Given the description of an element on the screen output the (x, y) to click on. 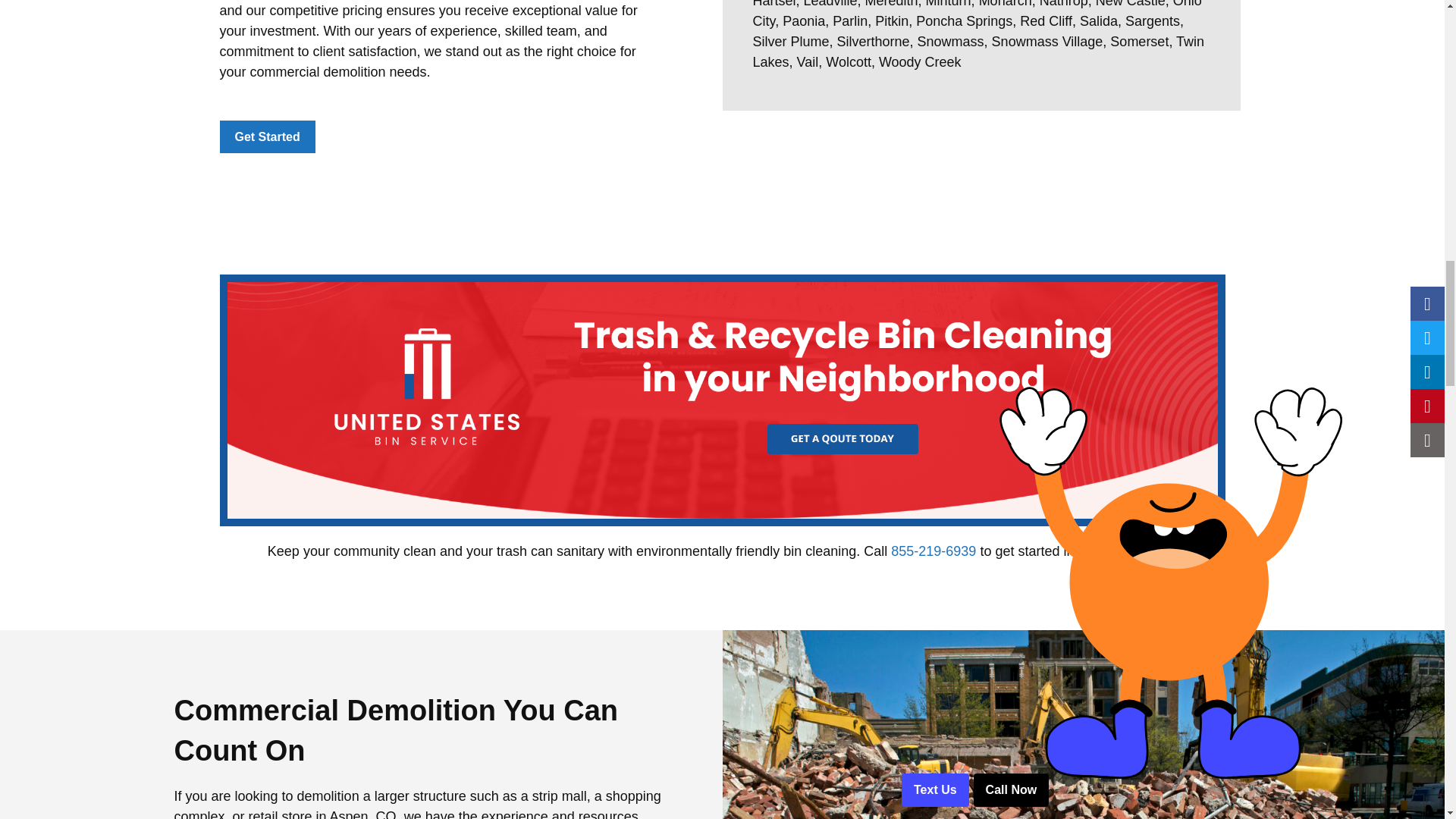
Get Started (267, 136)
855-219-6939 (933, 550)
